Given the description of an element on the screen output the (x, y) to click on. 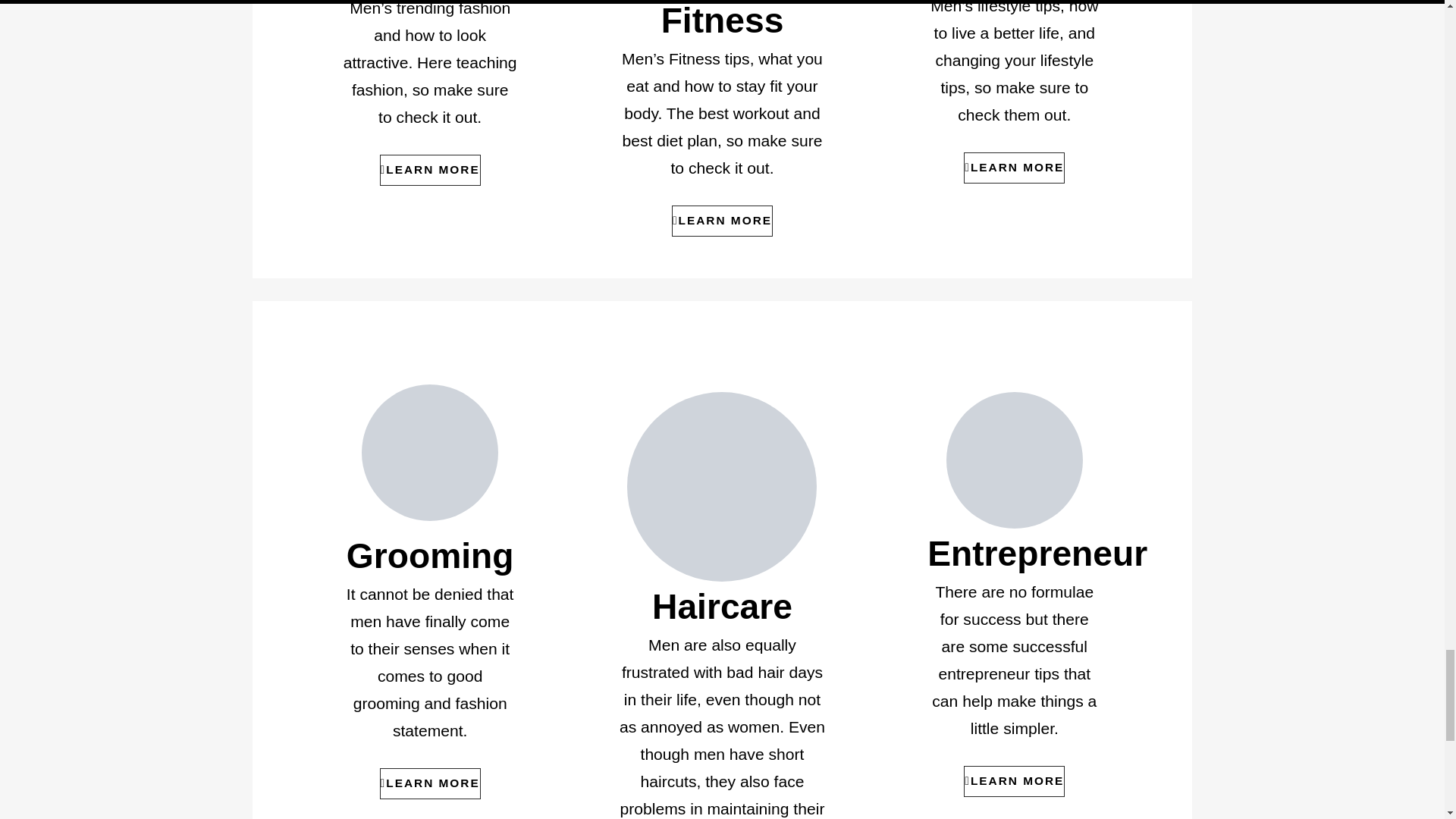
entrepreneur (1014, 460)
men grooming (429, 452)
men haircare (721, 486)
